Given the description of an element on the screen output the (x, y) to click on. 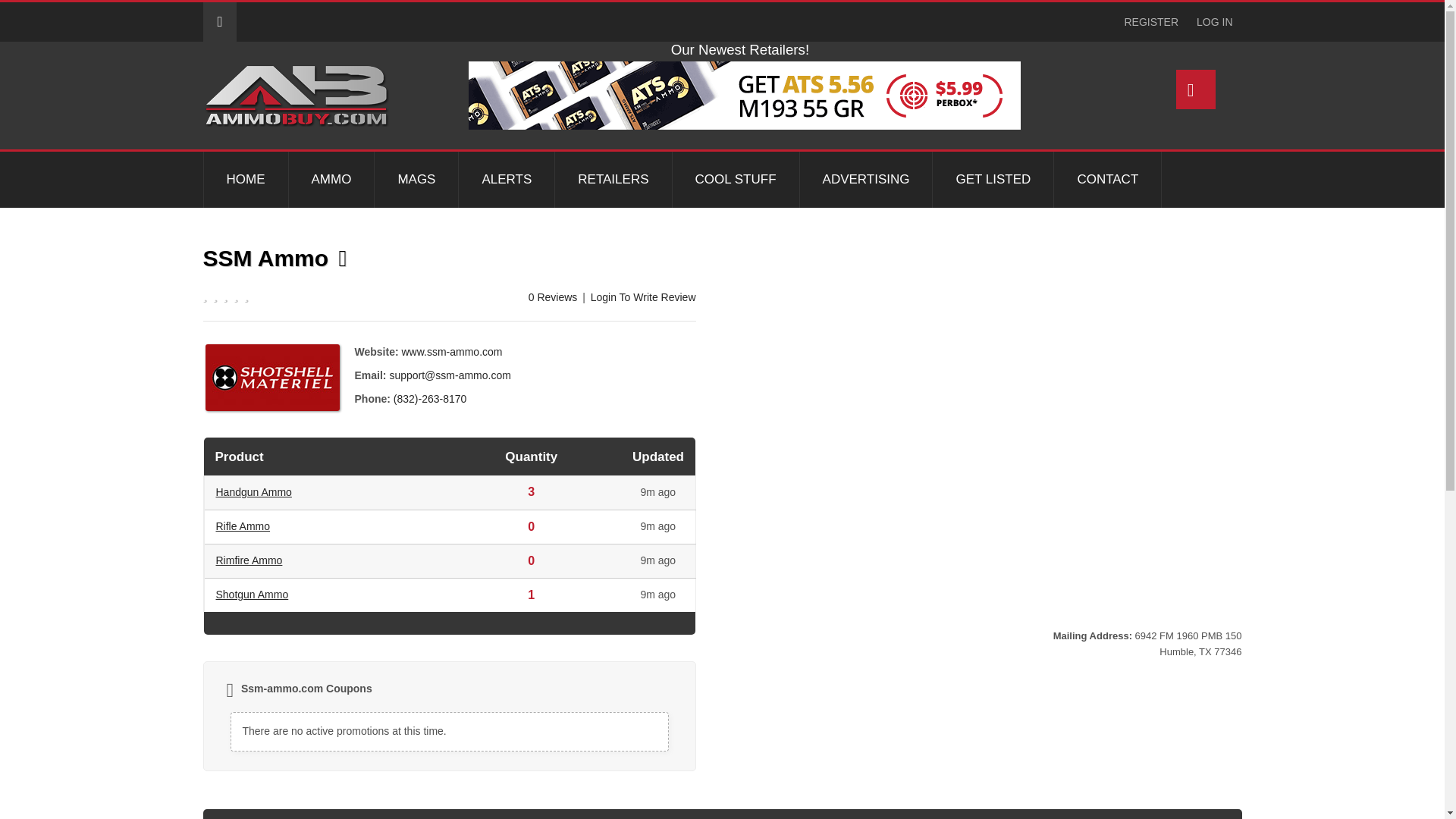
AMMO (331, 179)
HOME (244, 179)
LOG IN (1214, 21)
Log In (1151, 21)
Log In (1214, 21)
Our Newest Retailer! (810, 95)
Ammunition Search Engine - Home (295, 95)
REGISTER (1151, 21)
Unrated (260, 294)
